Given the description of an element on the screen output the (x, y) to click on. 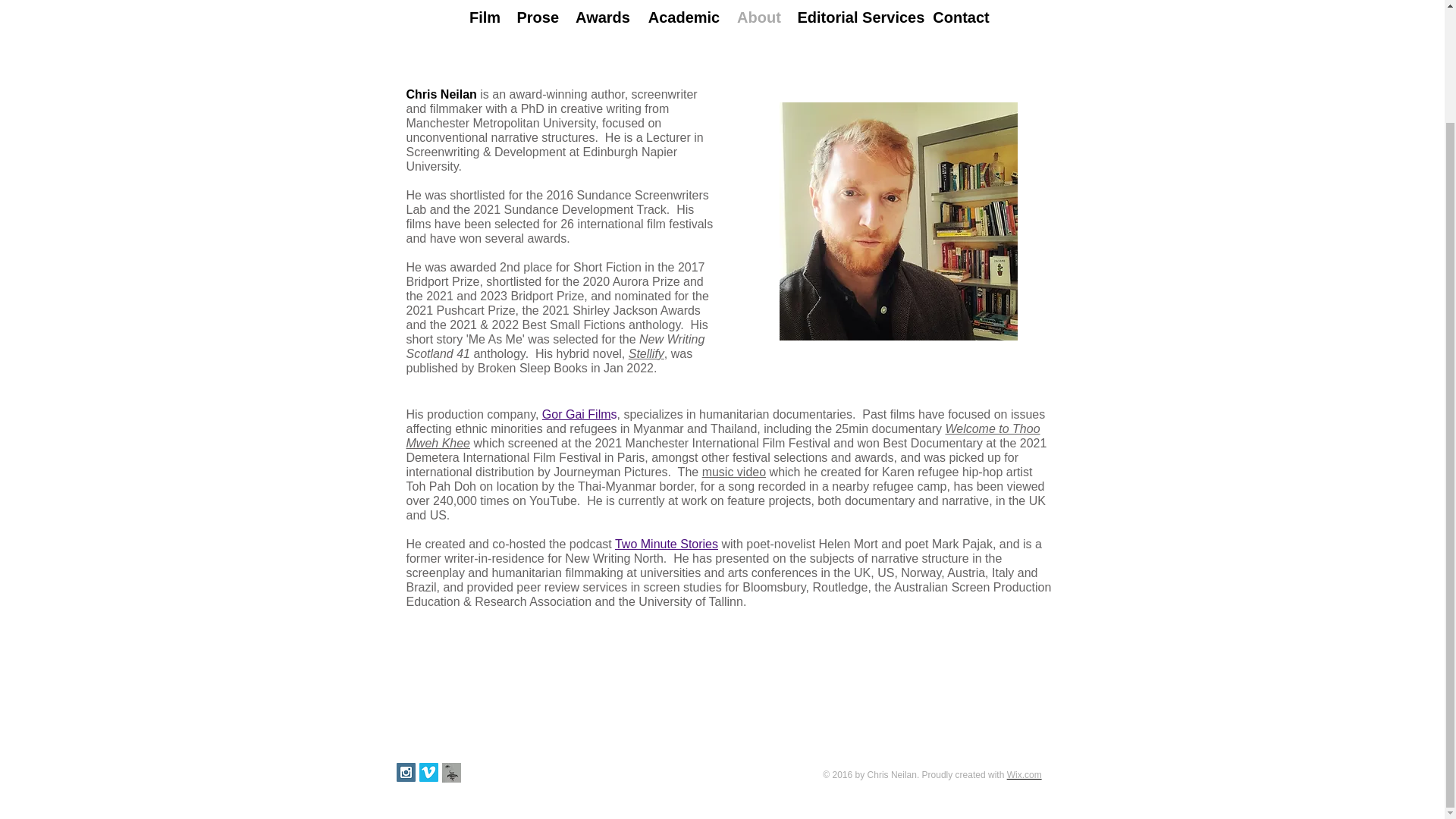
Two Minute Stories (665, 543)
Gor Gai Film (576, 413)
Contact (960, 18)
Editorial Services (857, 18)
About (758, 18)
Wix.com (1024, 774)
Prose (537, 18)
Welcome to Thoo Mweh Khee (723, 435)
music video (733, 472)
Film (485, 18)
Stellify (645, 353)
Awards (602, 18)
Academic (684, 18)
